Given the description of an element on the screen output the (x, y) to click on. 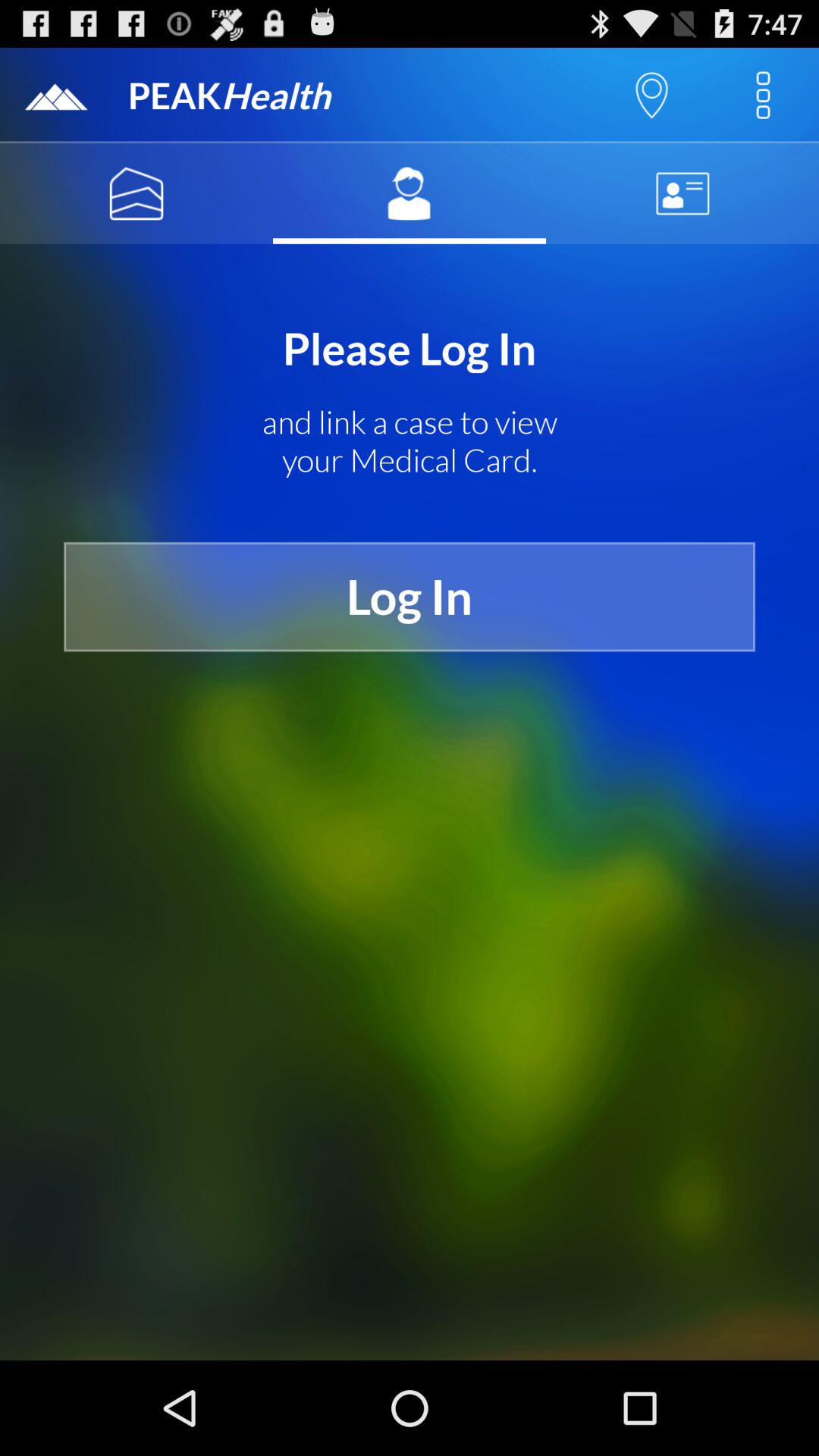
press the icon below peakhealth (409, 193)
